Given the description of an element on the screen output the (x, y) to click on. 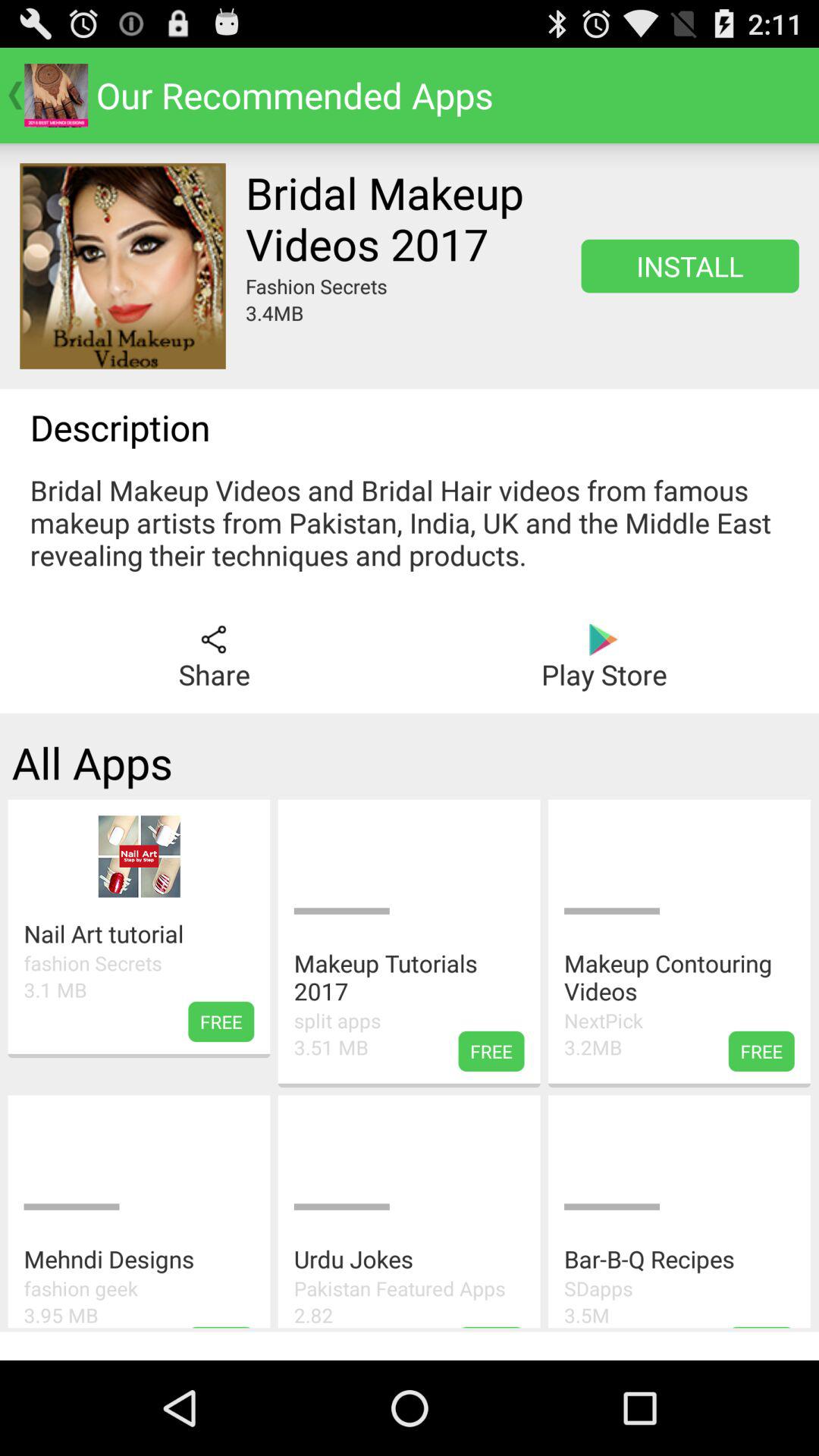
click on the third option in last row (679, 1211)
